Given the description of an element on the screen output the (x, y) to click on. 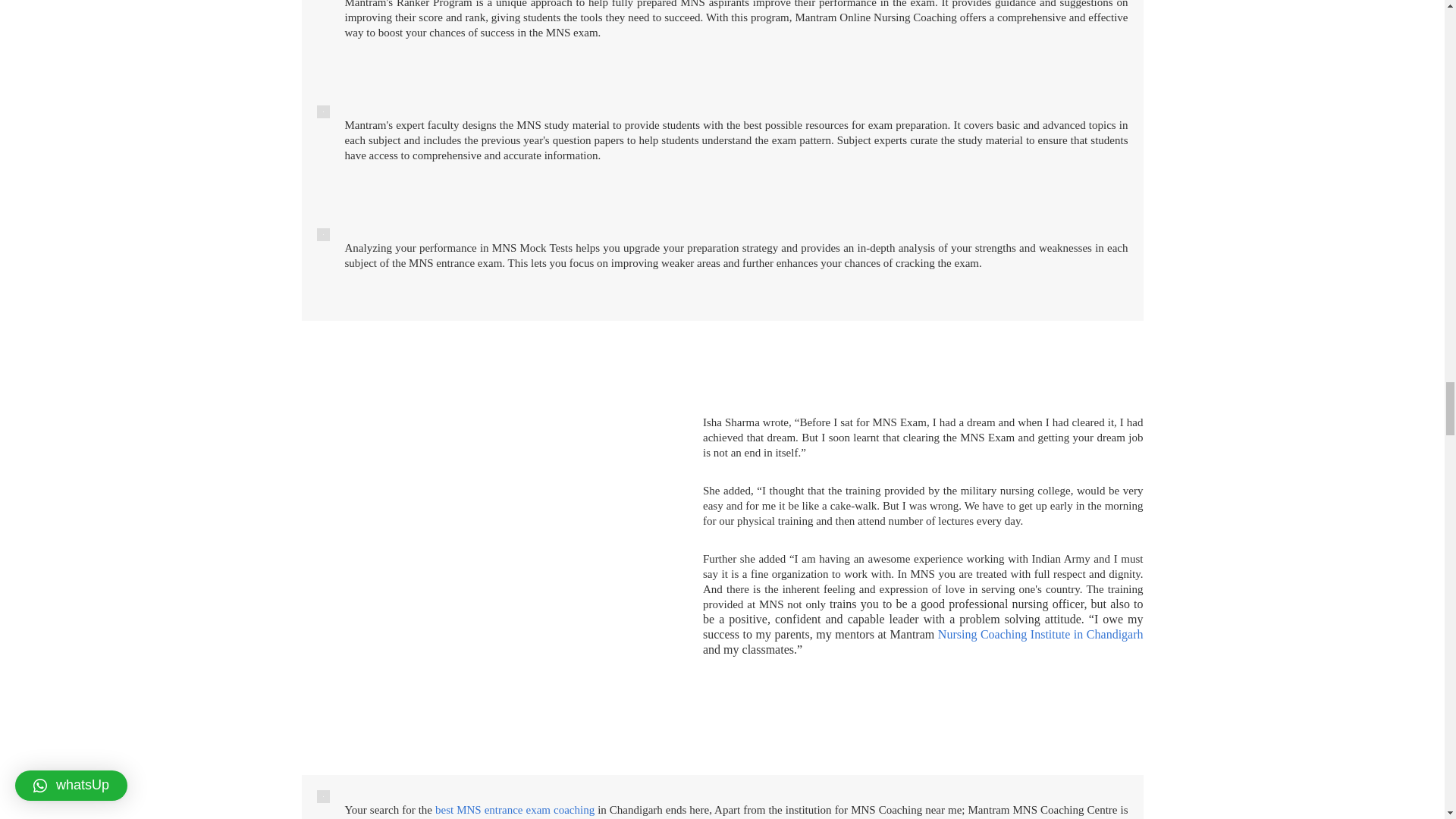
best MNS entrance exam coaching (514, 809)
Nursing Coaching Institute in Chandigarh (1039, 634)
